Given the description of an element on the screen output the (x, y) to click on. 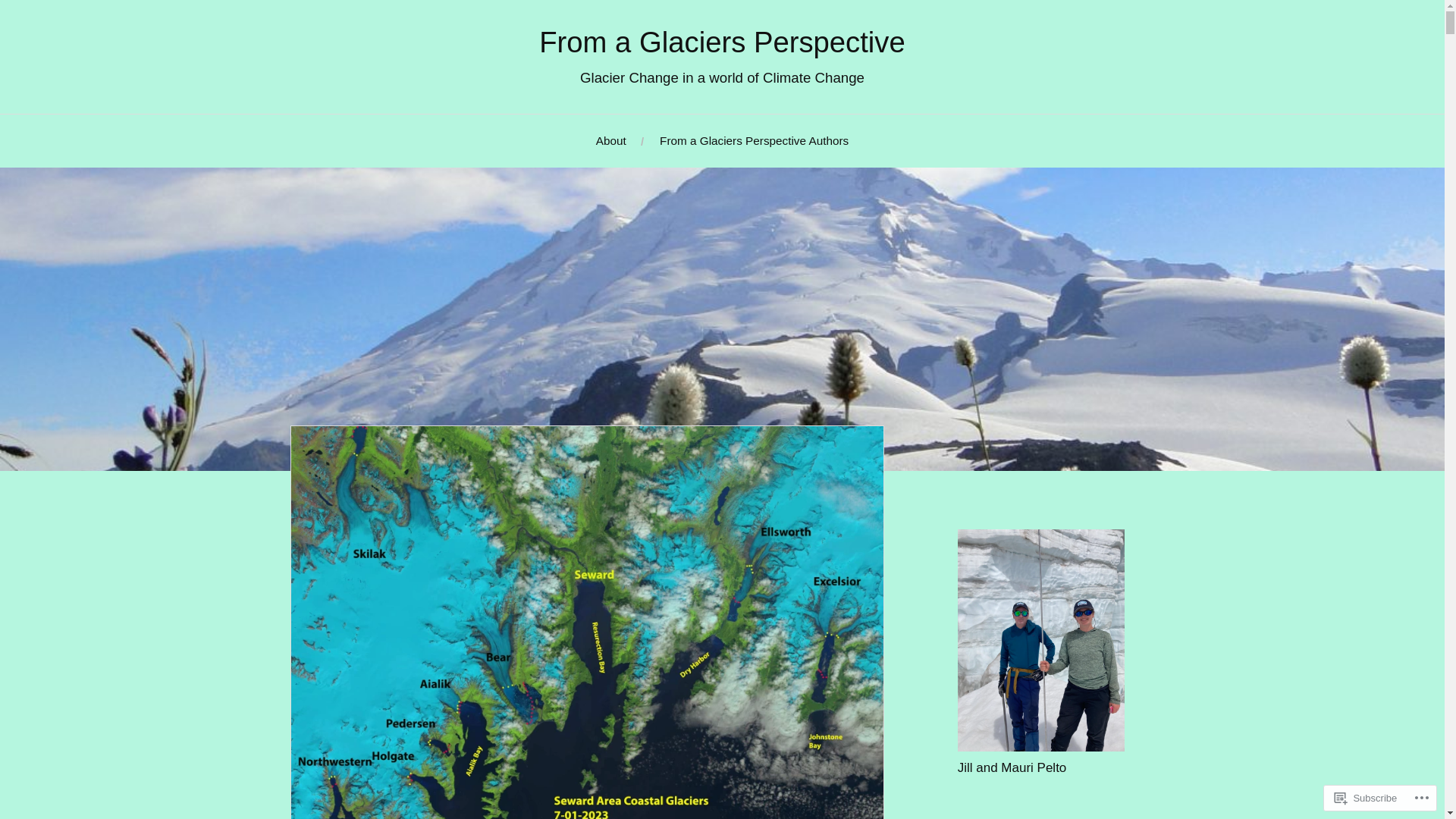
From a Glaciers Perspective Authors (753, 140)
From a Glaciers Perspective (721, 41)
